Given the description of an element on the screen output the (x, y) to click on. 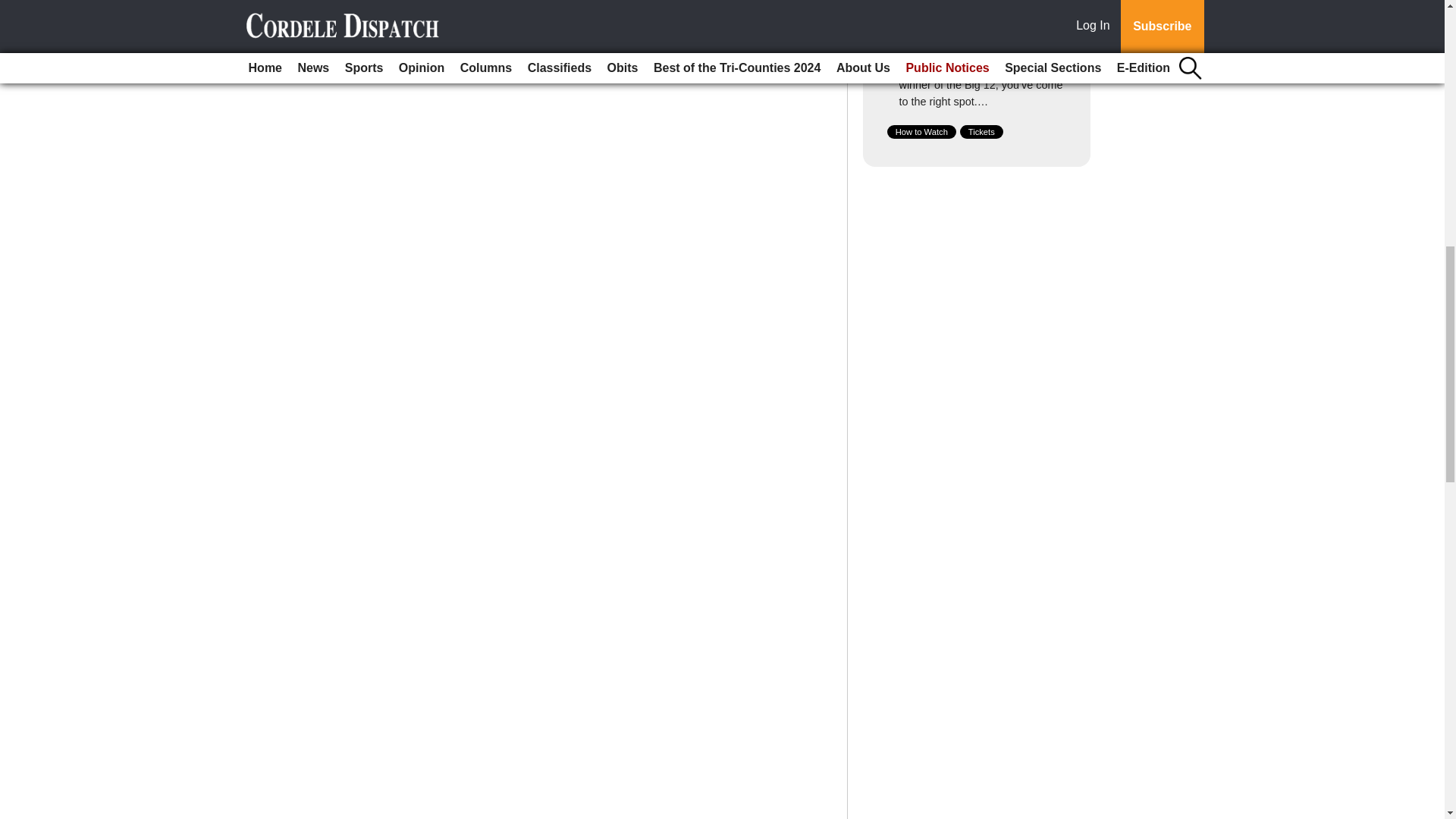
How to Watch (921, 131)
Tickets (981, 131)
